Given the description of an element on the screen output the (x, y) to click on. 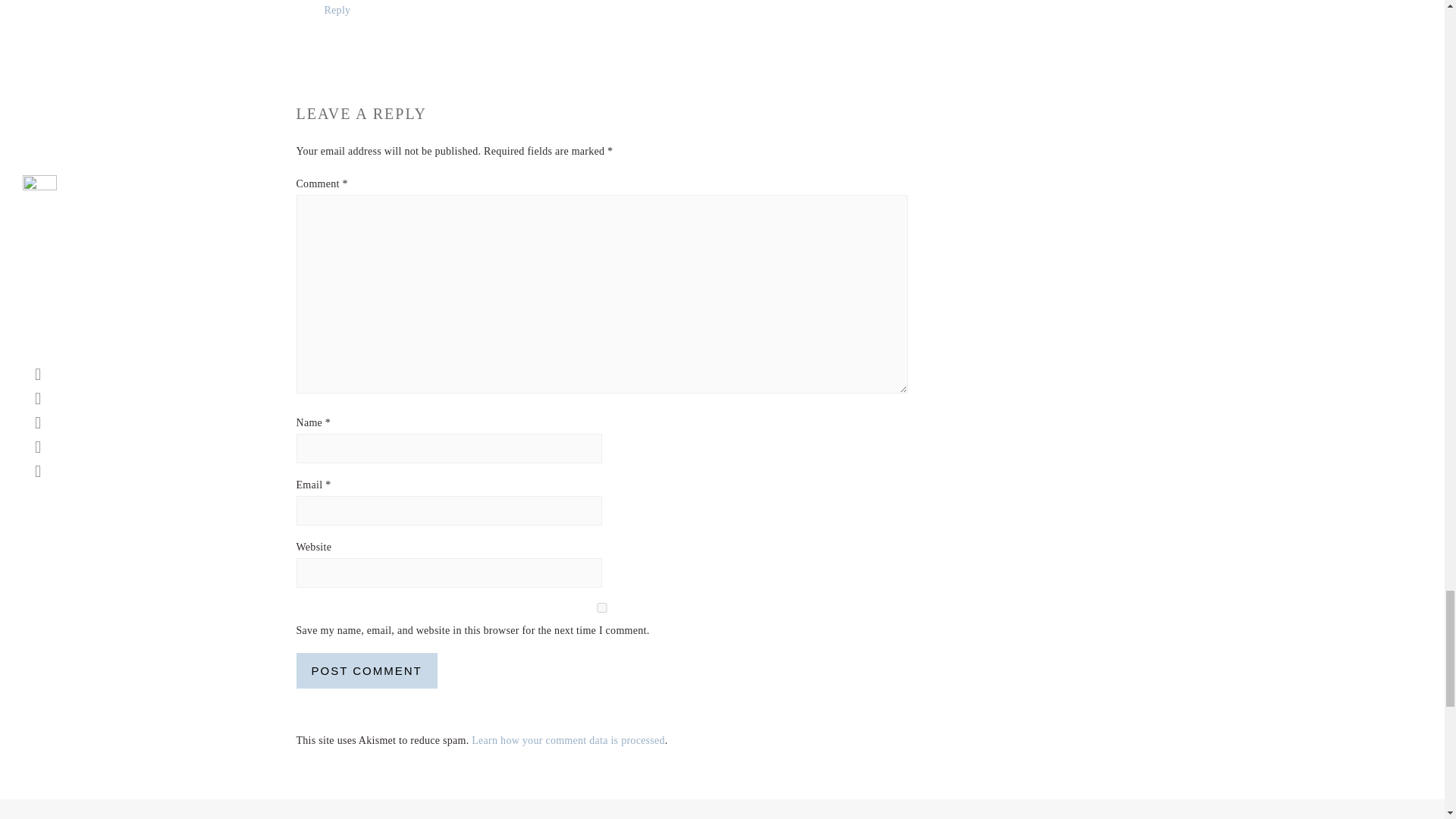
yes (601, 607)
Post Comment (365, 670)
